Given the description of an element on the screen output the (x, y) to click on. 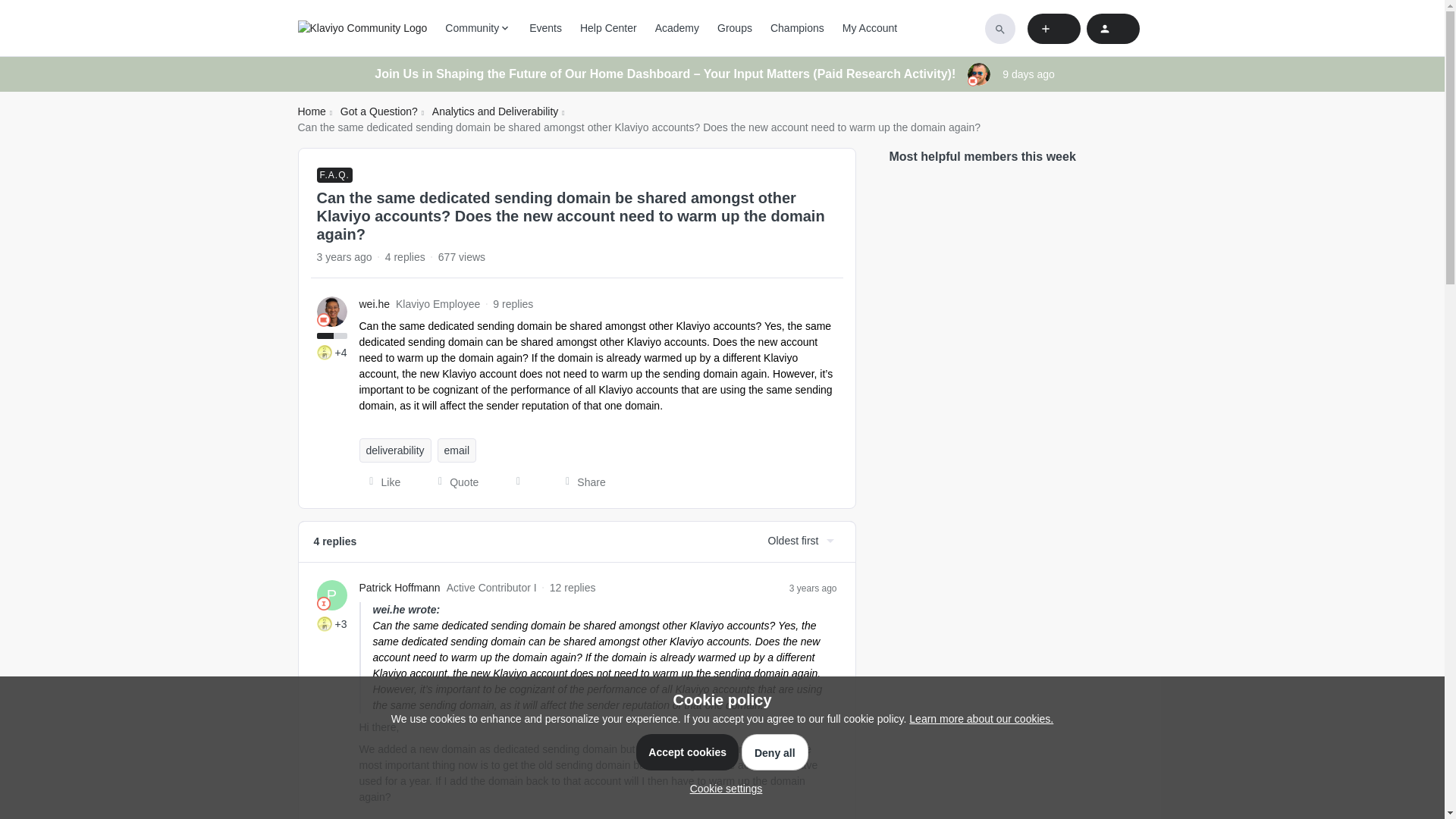
My Account (869, 28)
Events (545, 28)
Academy (676, 28)
Community (478, 28)
Champions (797, 28)
Help Center (608, 28)
Groups (734, 28)
Home (310, 111)
